Given the description of an element on the screen output the (x, y) to click on. 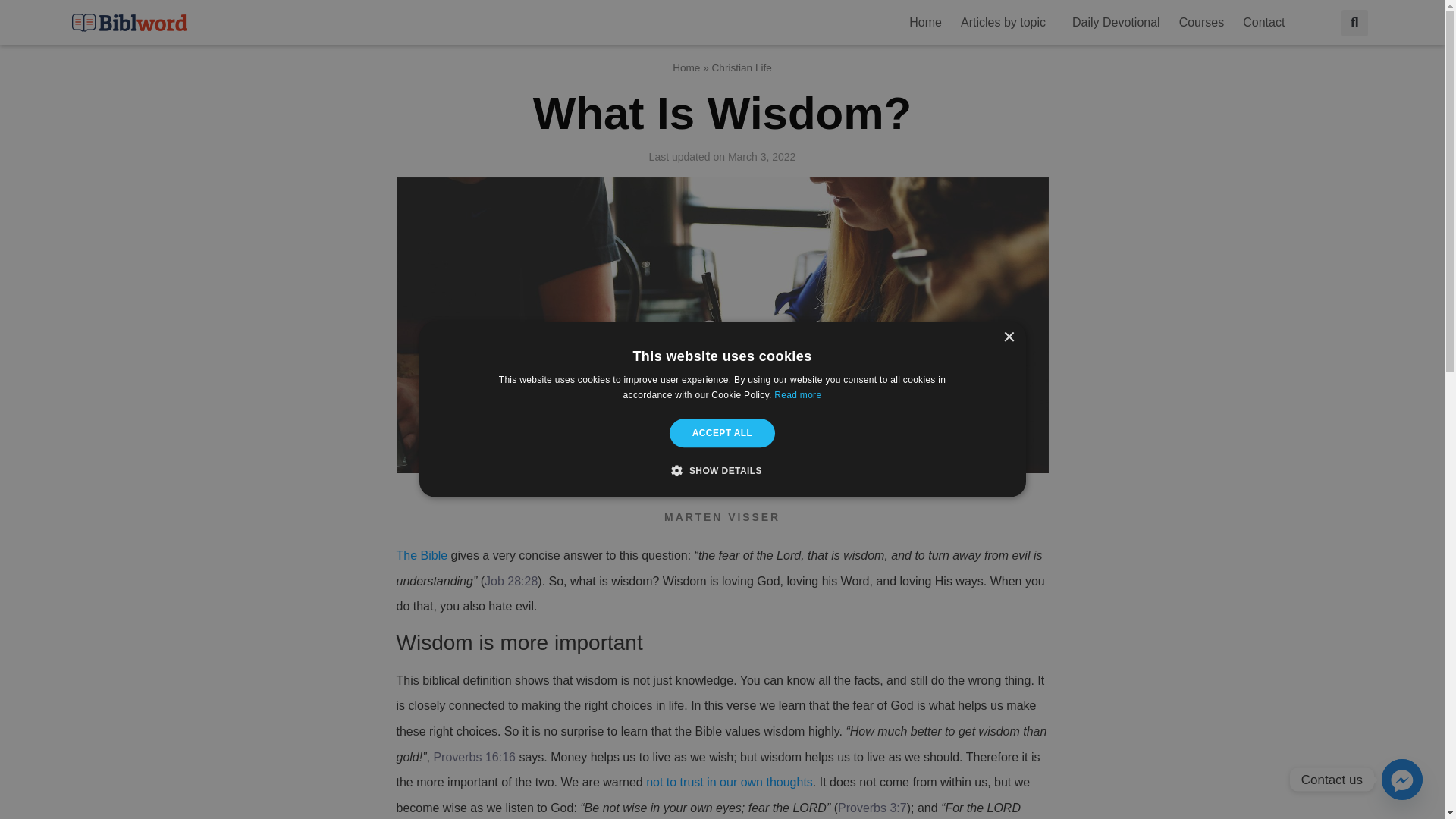
Articles by topic (1007, 22)
Courses (1201, 22)
Daily Devotional (1115, 22)
Home (925, 22)
Contact (1267, 22)
